Given the description of an element on the screen output the (x, y) to click on. 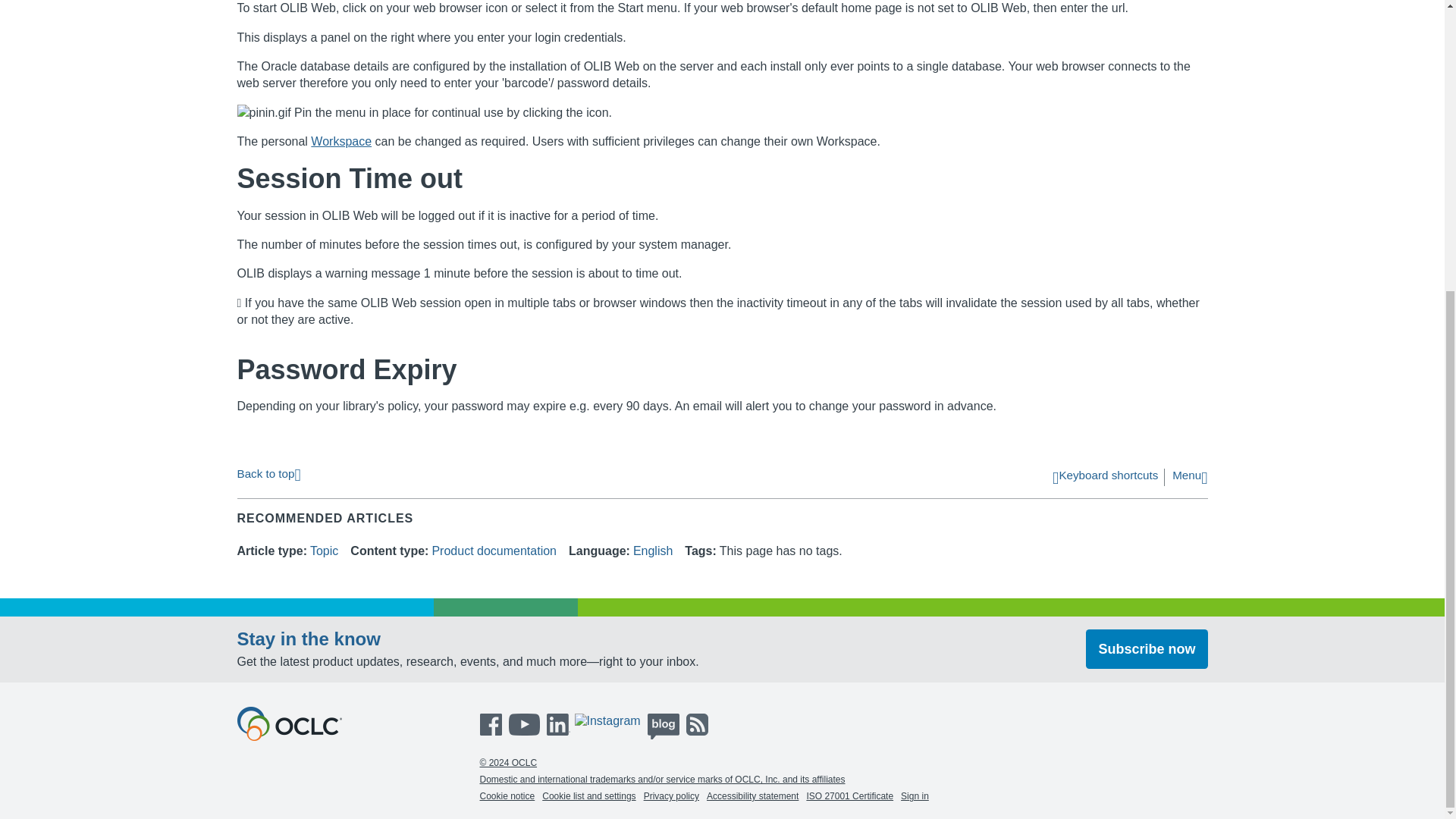
Back to top (267, 472)
Menu (1189, 477)
Workspaces (341, 141)
Keyboard shortcuts (1104, 477)
Workspace (341, 141)
Topic (323, 550)
Menu (1189, 477)
Keyboard shortcuts (1104, 477)
Jump back to top of this article (267, 472)
